Given the description of an element on the screen output the (x, y) to click on. 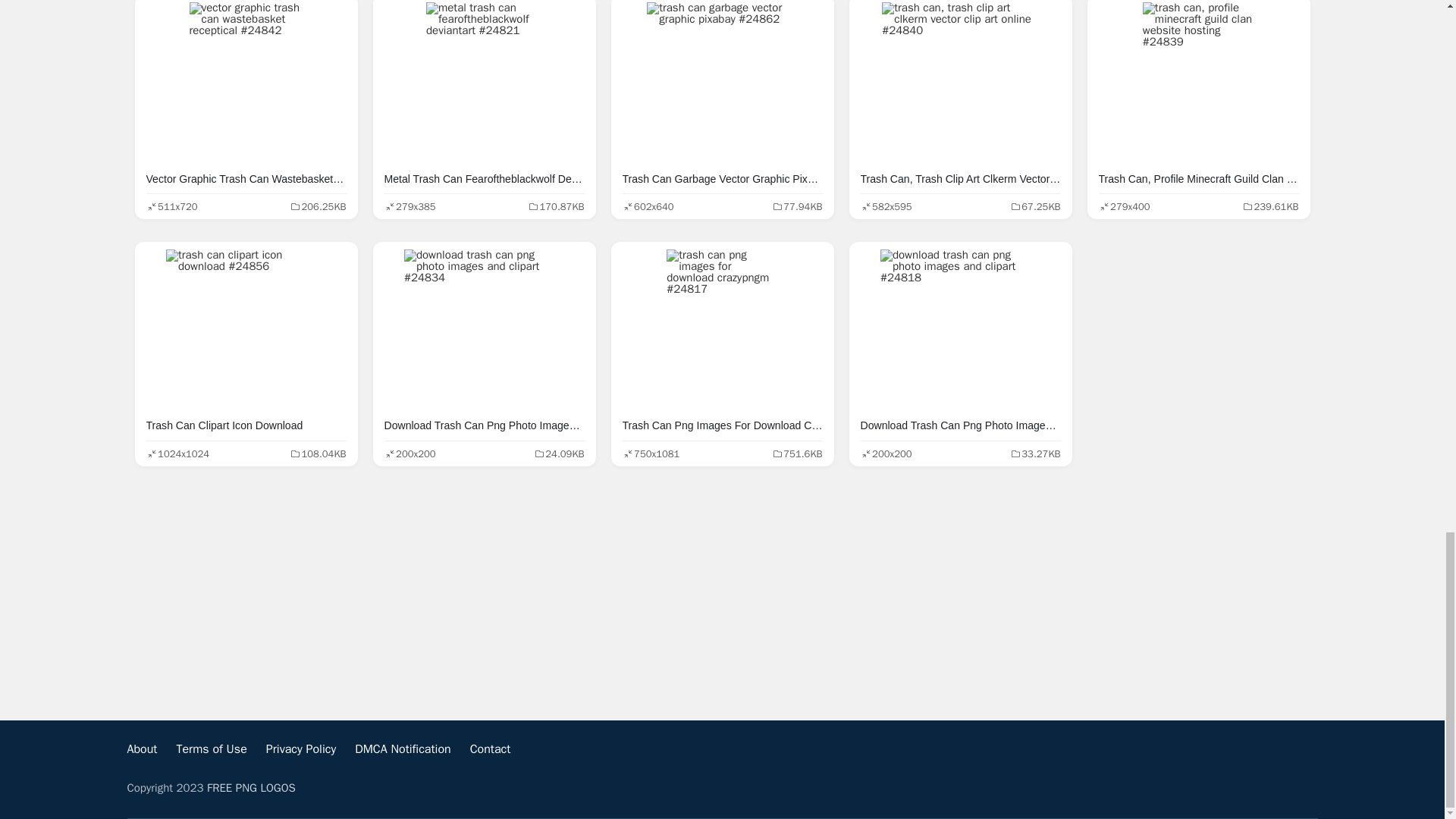
About (142, 749)
Terms of Use (211, 749)
